Given the description of an element on the screen output the (x, y) to click on. 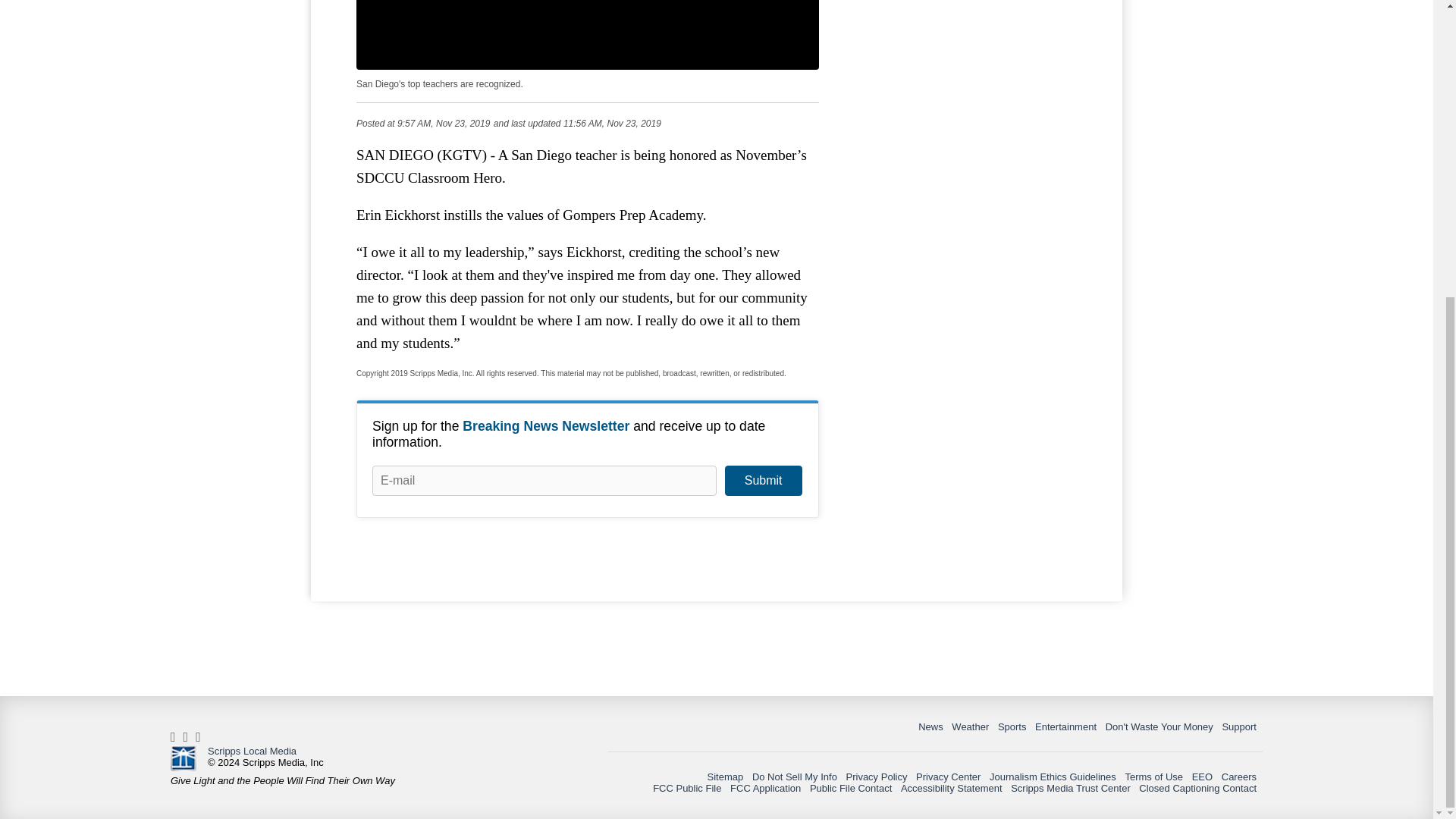
Submit (763, 481)
